Given the description of an element on the screen output the (x, y) to click on. 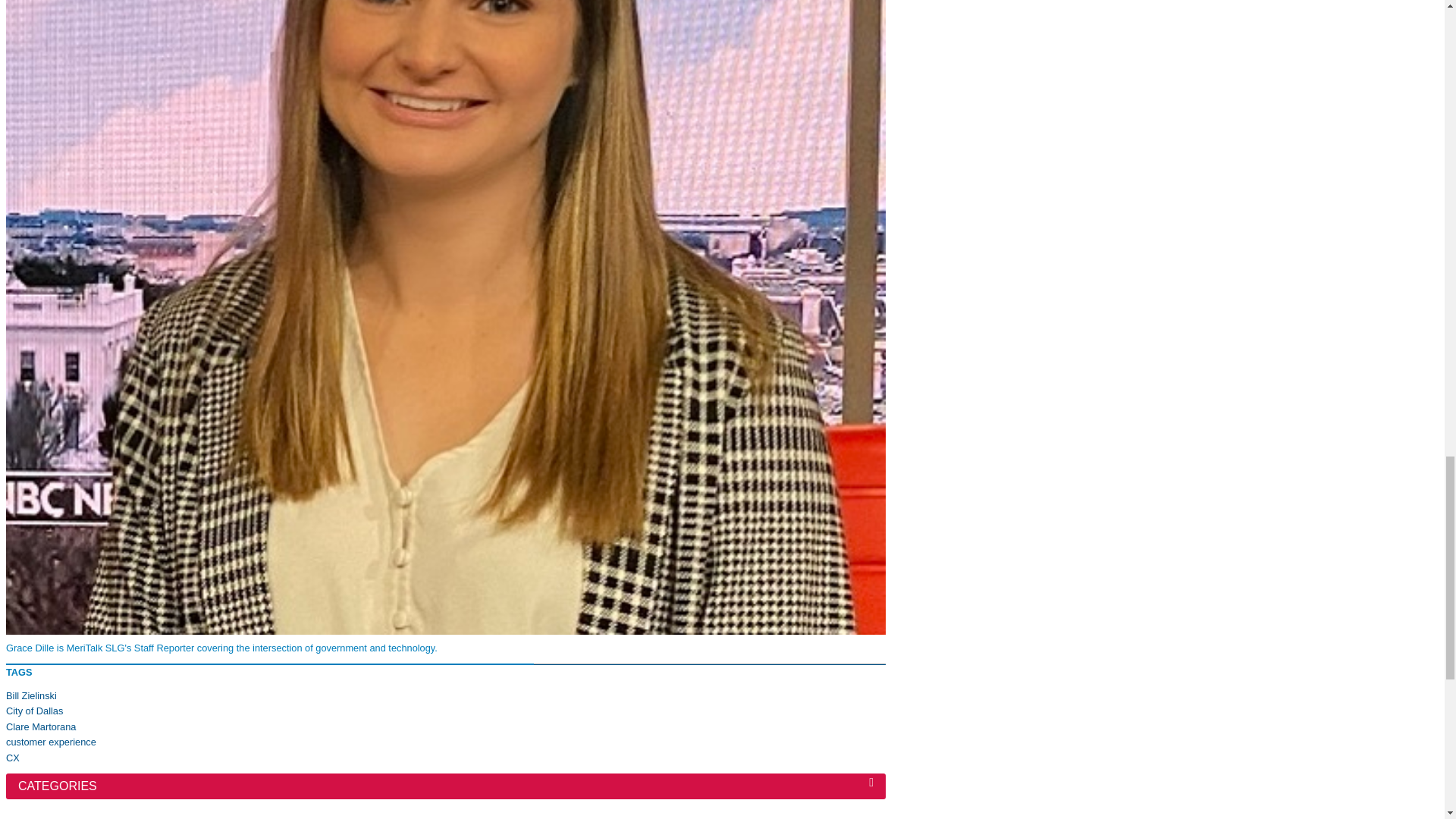
Bill Zielinski (30, 695)
City of Dallas (33, 710)
customer experience (50, 741)
Clare Martorana (40, 726)
CX (12, 757)
